Given the description of an element on the screen output the (x, y) to click on. 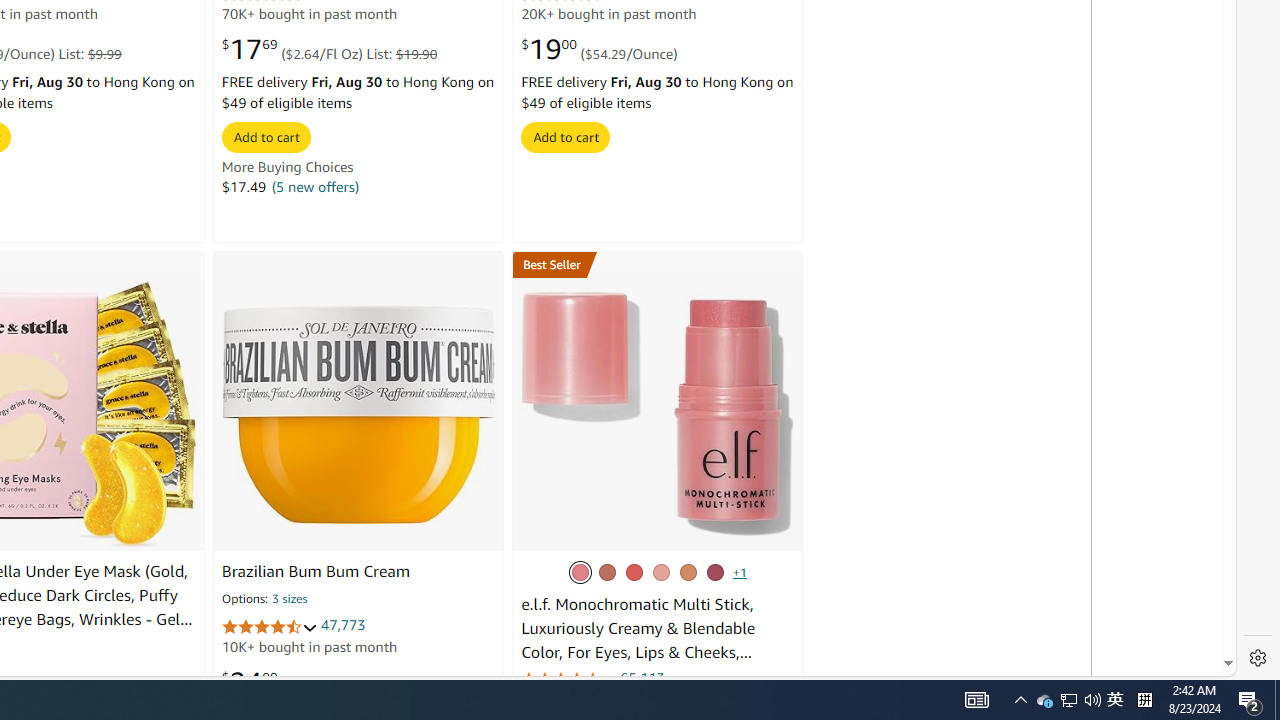
Luminous Berry (715, 572)
$17.69 ( $2.64 /Fl Oz) List: $19.90 (329, 48)
4.6 out of 5 stars (269, 626)
Glimmering Guava (633, 572)
3 sizes (289, 600)
+1 (739, 571)
Brazilian Bum Bum Cream (315, 571)
Glistening Peach (660, 572)
Add to cart (566, 136)
$19.00 ( $54.29 /Ounce) (599, 48)
SOL DE JANEIRO Brazilian Bum Bum Cream (358, 413)
47,773 (343, 624)
Glowing Mango (687, 572)
